Given the description of an element on the screen output the (x, y) to click on. 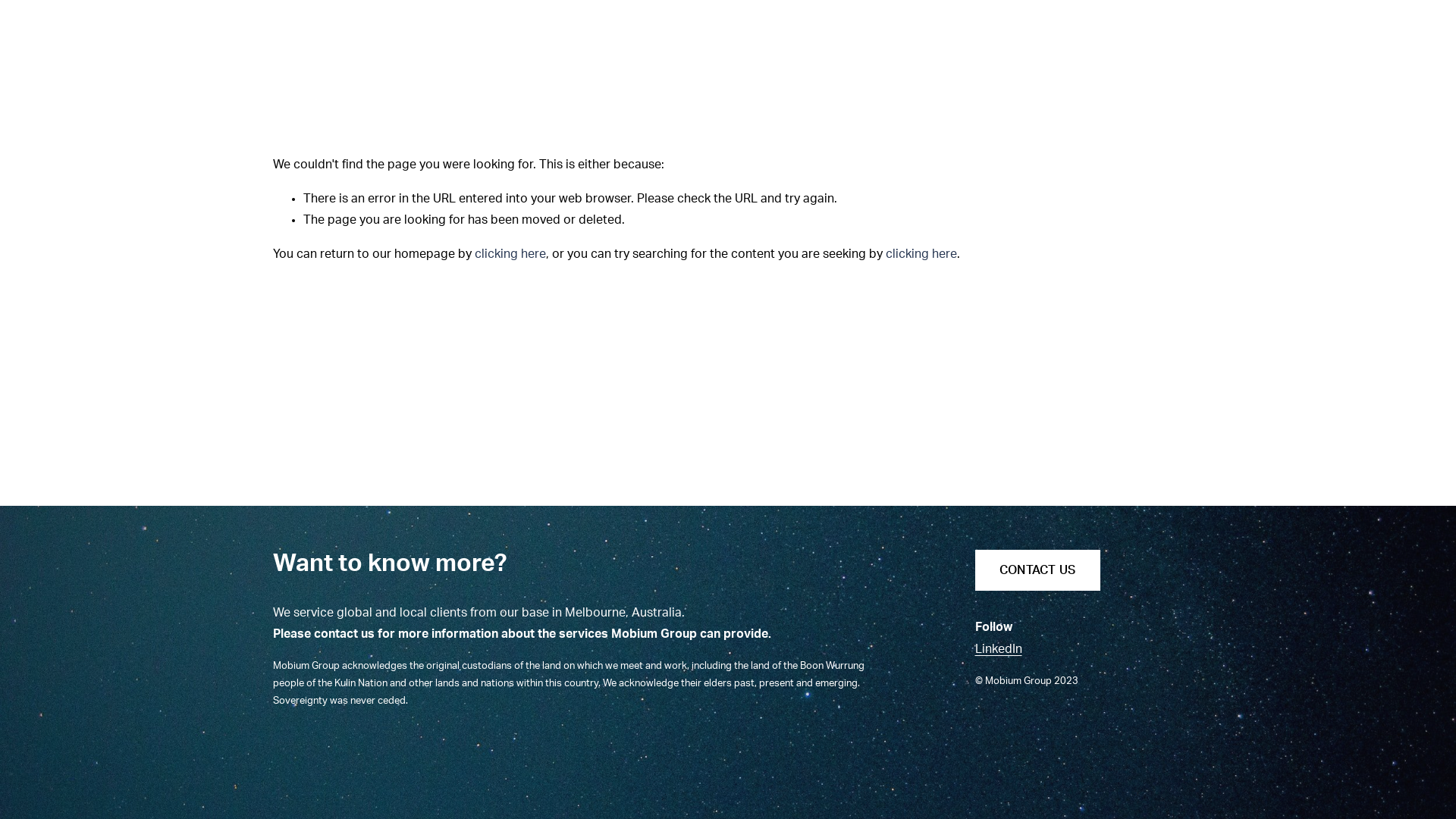
LinkedIn Element type: text (998, 649)
CONTACT US Element type: text (1037, 569)
Contact Element type: text (1116, 49)
clicking here Element type: text (510, 253)
clicking here Element type: text (921, 253)
